Given the description of an element on the screen output the (x, y) to click on. 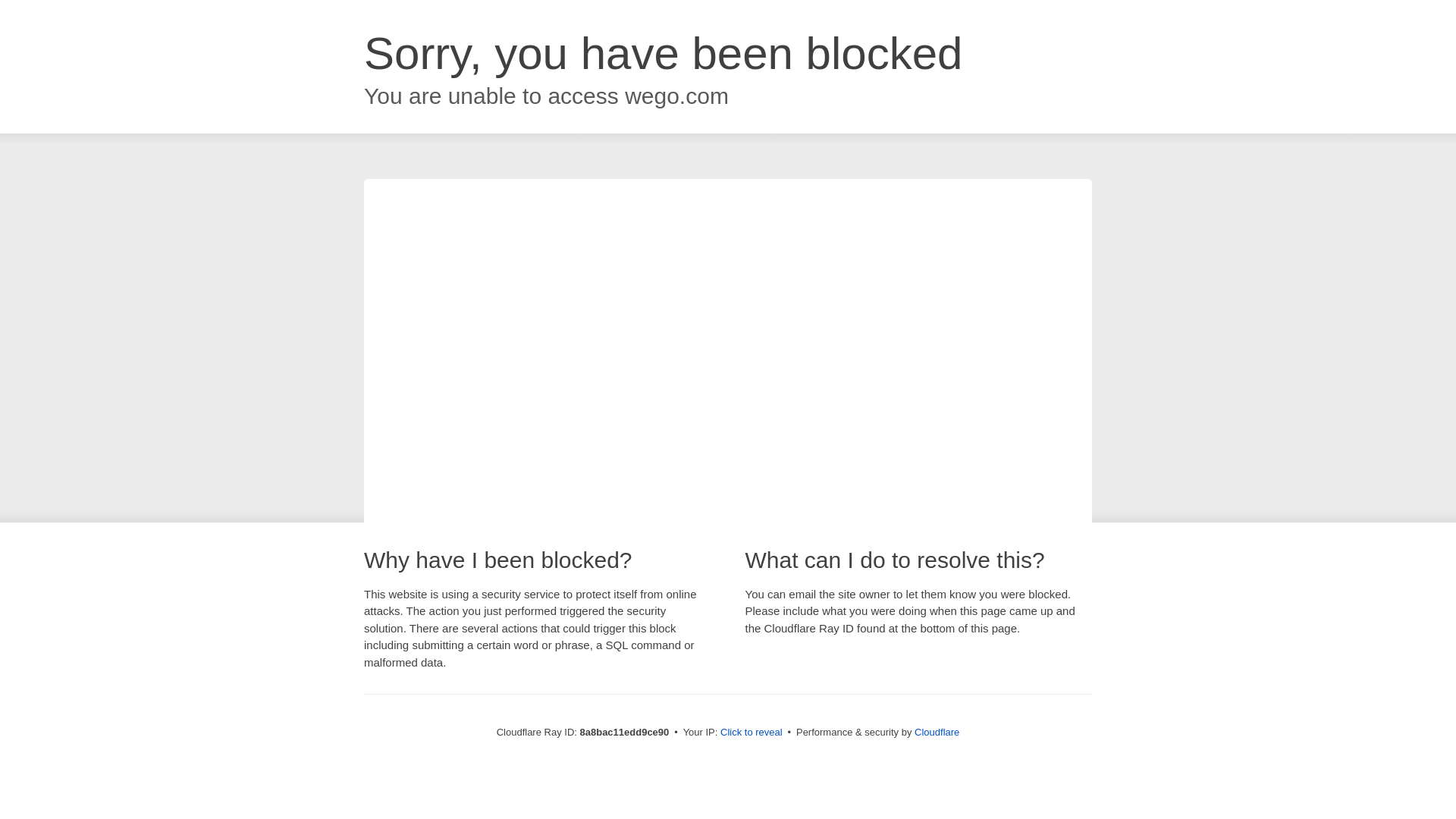
Click to reveal (751, 732)
Cloudflare (936, 731)
